Given the description of an element on the screen output the (x, y) to click on. 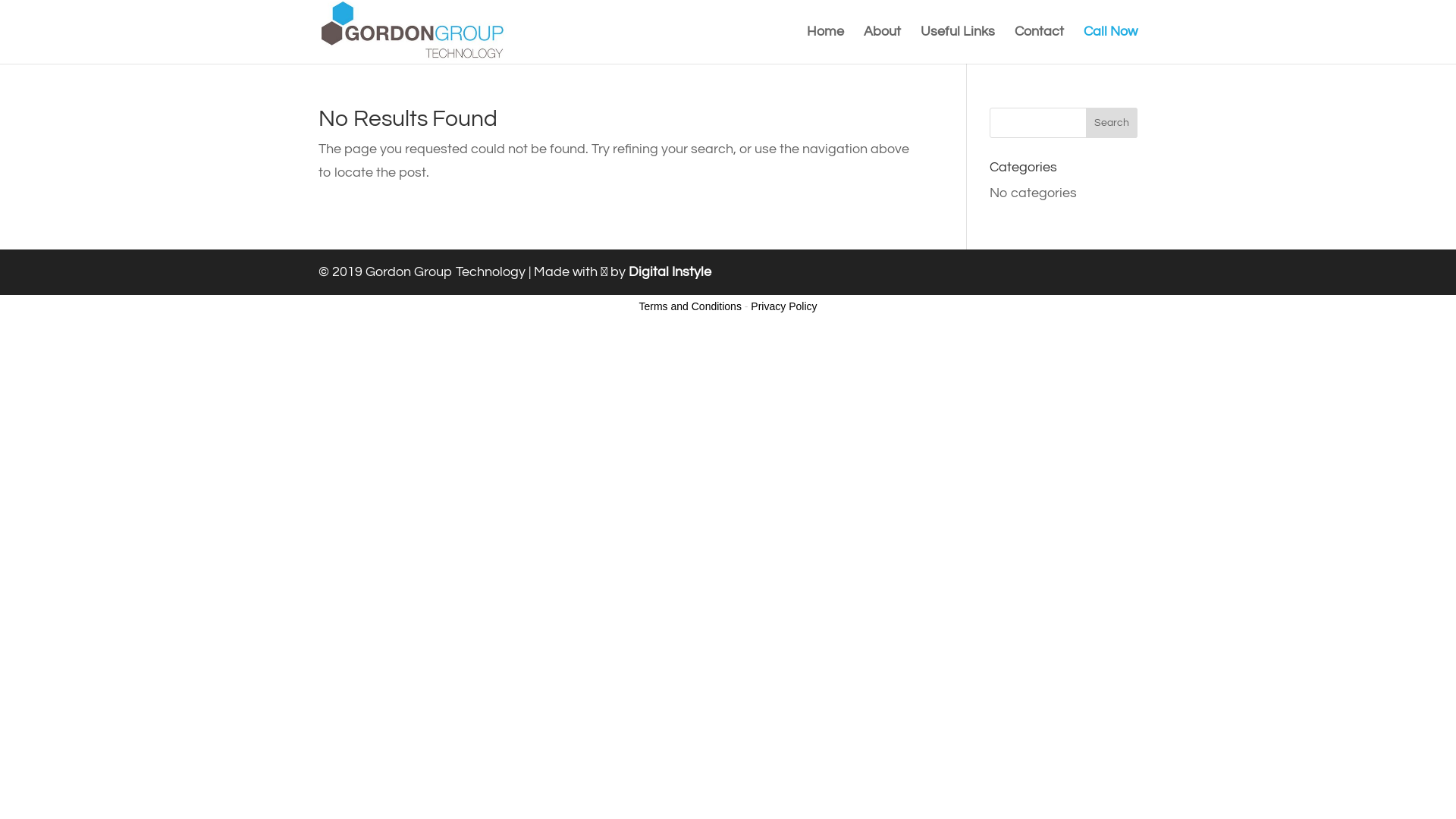
Home Element type: text (825, 44)
Terms and Conditions Element type: text (689, 306)
Useful Links Element type: text (957, 44)
Digital Instyle Element type: text (669, 271)
Search Element type: text (1111, 122)
Contact Element type: text (1038, 44)
About Element type: text (881, 44)
Call Now Element type: text (1110, 44)
Privacy Policy Element type: text (783, 306)
